Given the description of an element on the screen output the (x, y) to click on. 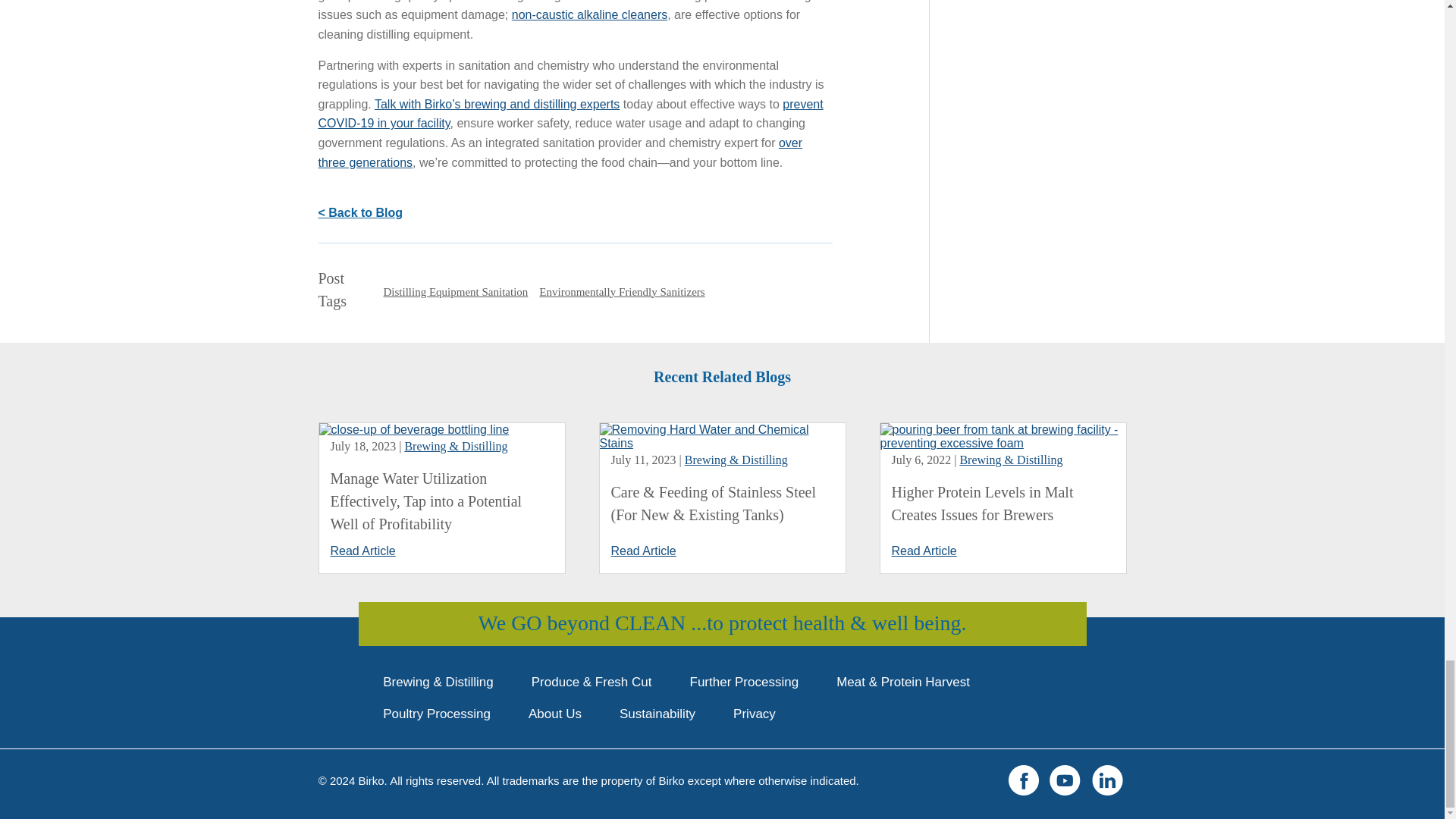
Facebook (1024, 779)
Higher Protein Levels in Malt Creates Issues for Brewers (1002, 442)
Higher Protein Levels in Malt Creates Issues for Brewers (982, 503)
